Given the description of an element on the screen output the (x, y) to click on. 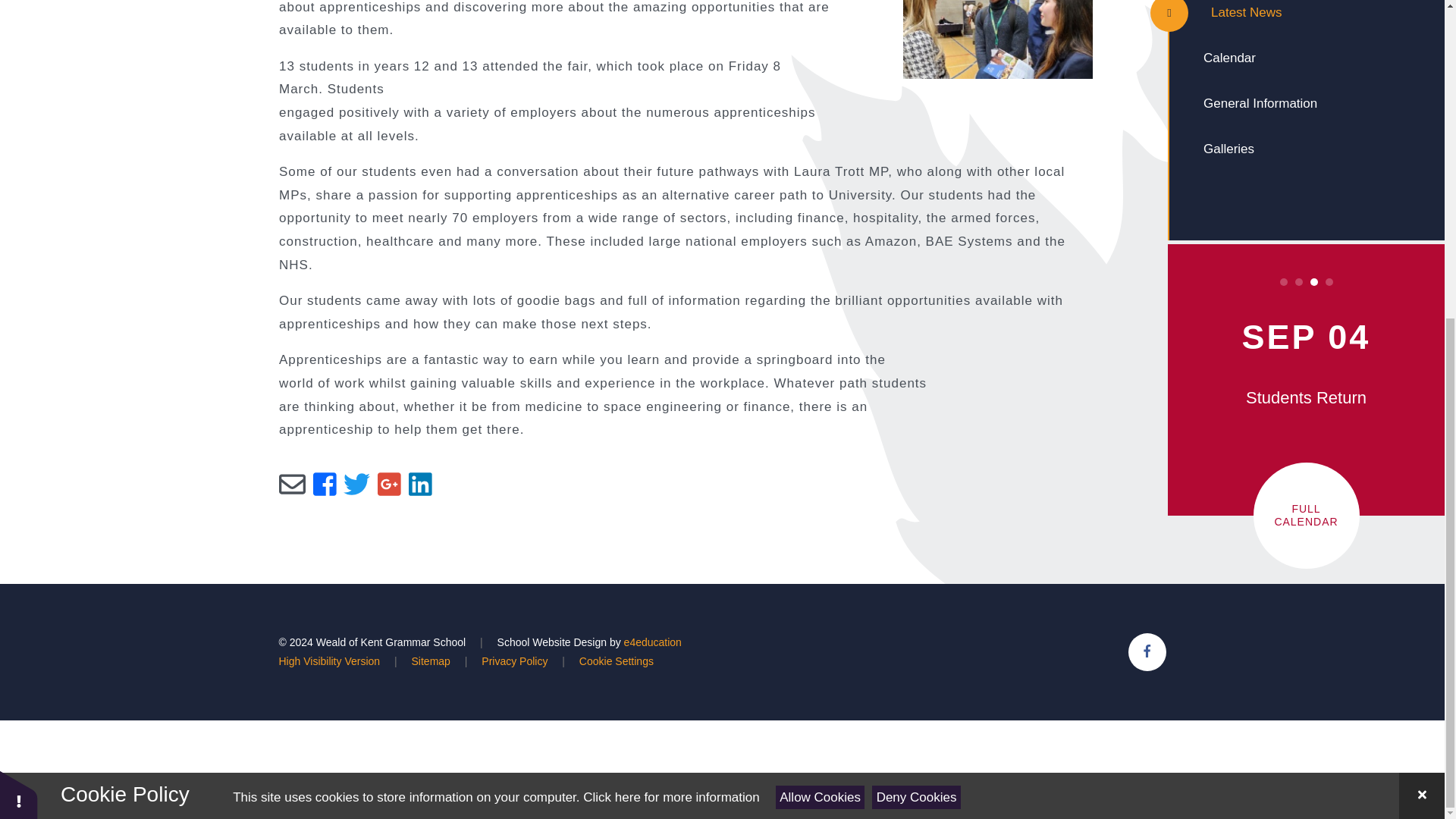
See cookie policy (670, 283)
Deny Cookies (915, 282)
Allow Cookies (820, 282)
Cookie Settings (18, 279)
Cookie Settings (616, 661)
